Given the description of an element on the screen output the (x, y) to click on. 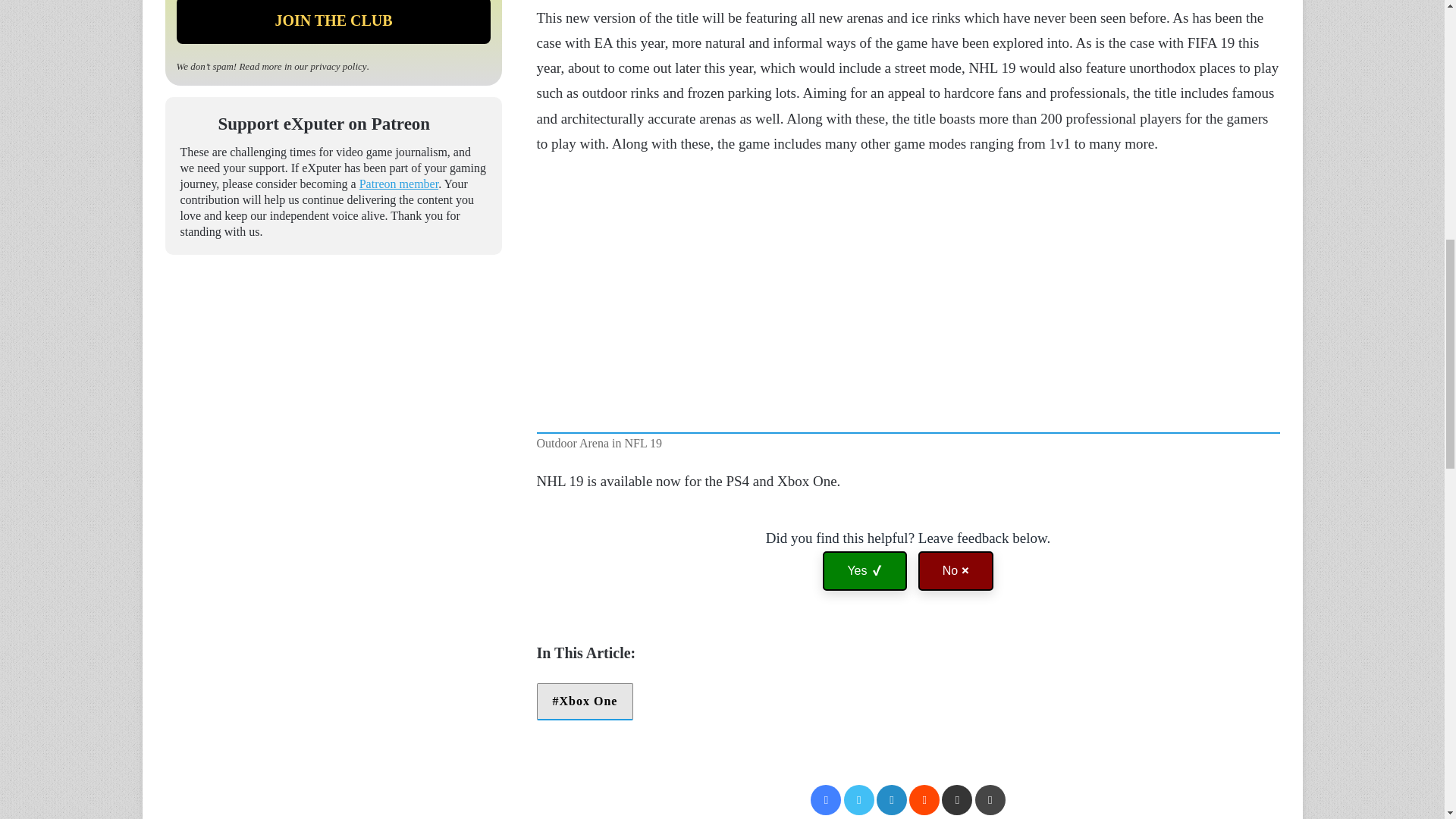
JOIN THE  CLUB (333, 22)
LinkedIn (891, 799)
Facebook (825, 799)
Twitter (859, 799)
Print (990, 799)
Share via Email (957, 799)
Reddit (923, 799)
